Given the description of an element on the screen output the (x, y) to click on. 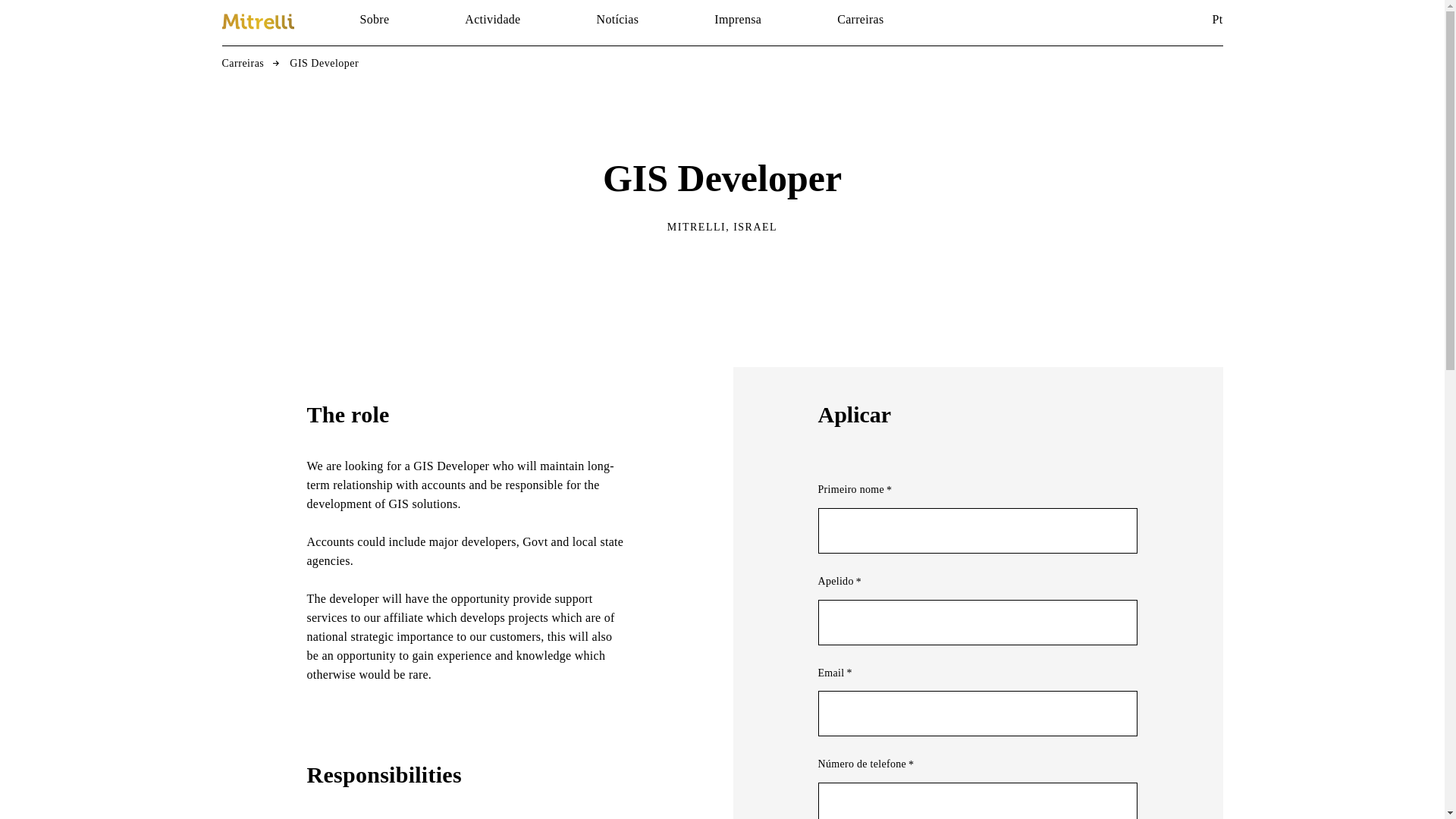
Carreiras (860, 19)
Actividade (491, 19)
Imprensa (737, 19)
Sobre (373, 19)
Carreiras (242, 64)
